Given the description of an element on the screen output the (x, y) to click on. 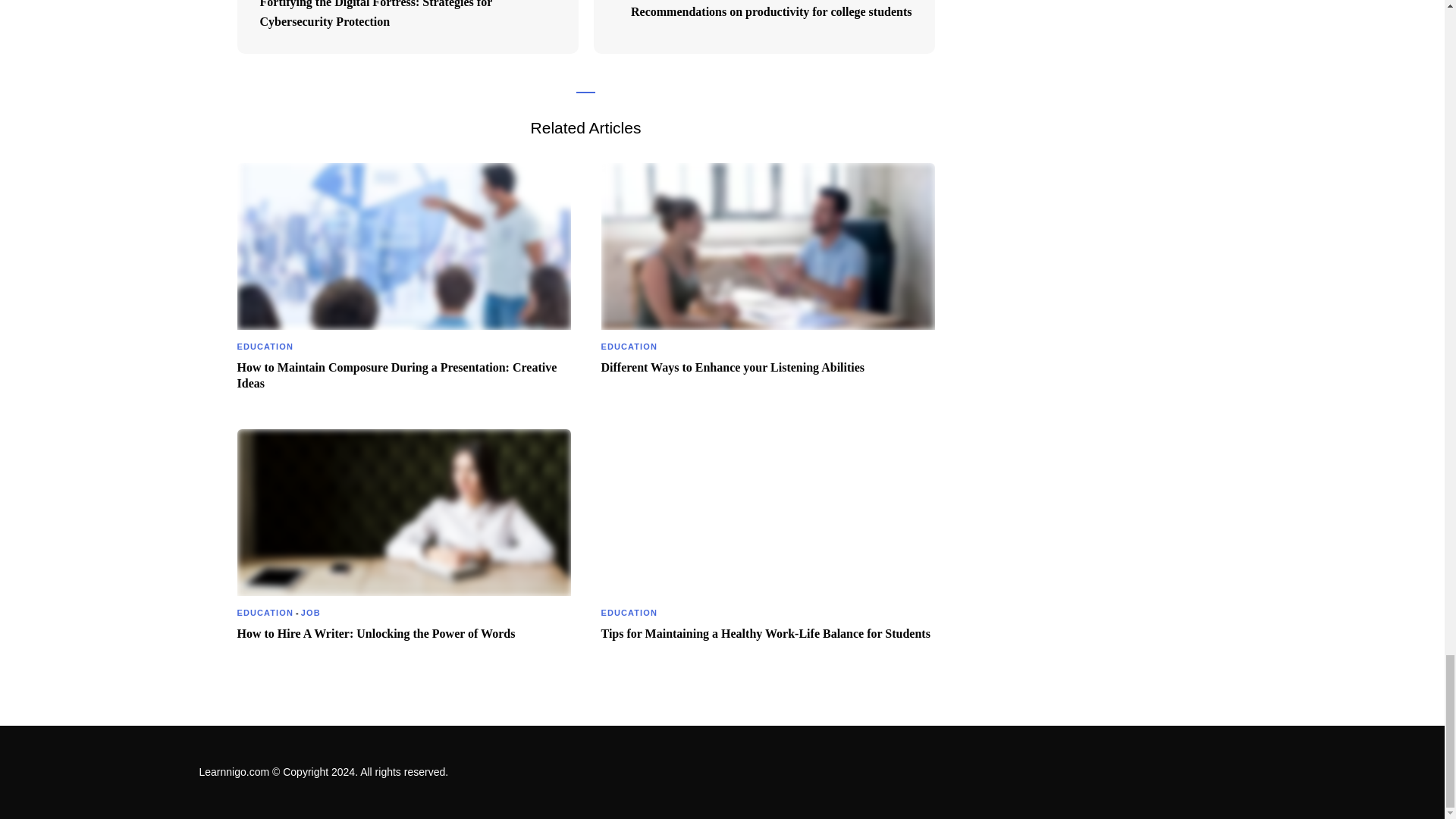
How to Hire A Writer: Unlocking the Power of Words (375, 634)
EDUCATION (263, 612)
JOB (310, 612)
Different Ways to Enhance your Listening Abilities (731, 367)
EDUCATION (627, 612)
EDUCATION (263, 346)
EDUCATION (627, 346)
